Given the description of an element on the screen output the (x, y) to click on. 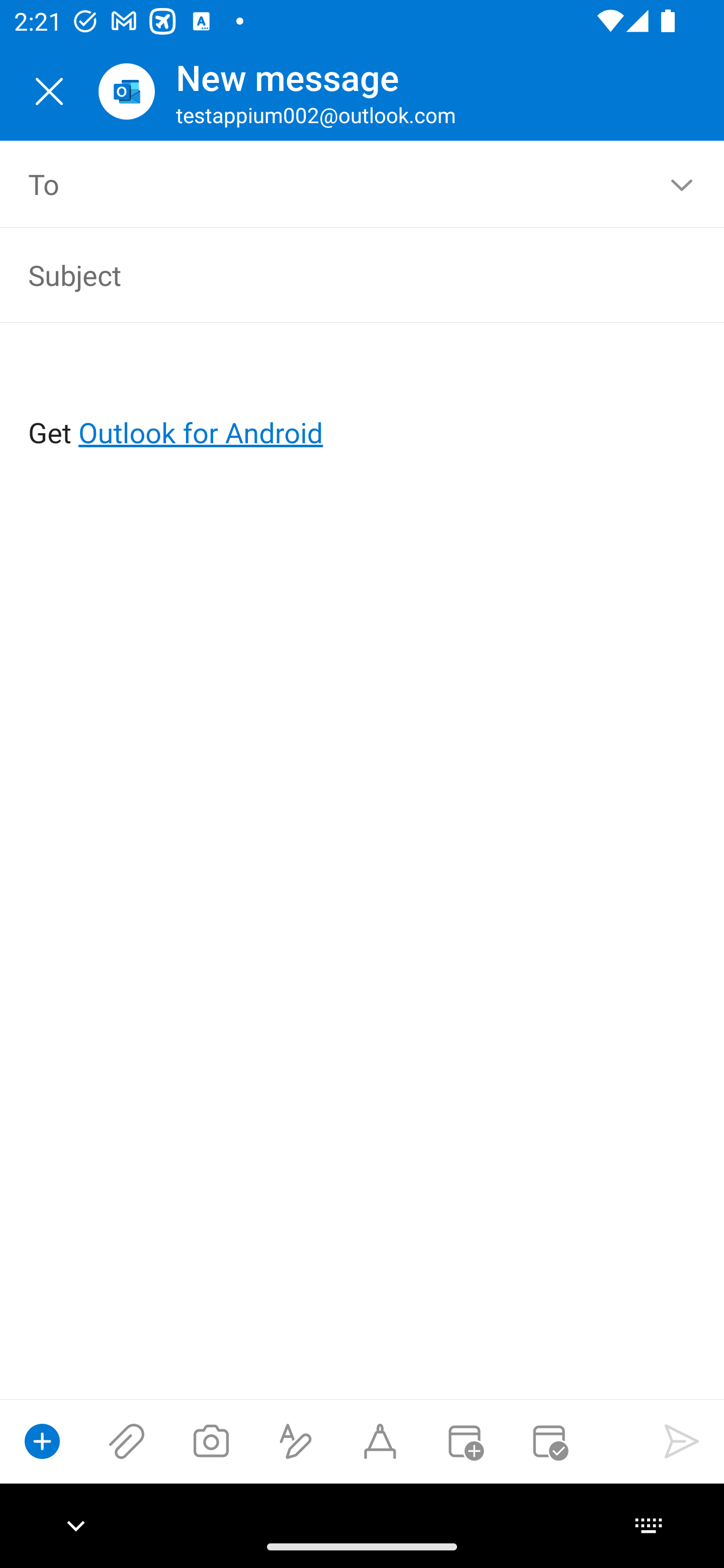
Close (49, 91)
Subject (333, 274)
Show compose options (42, 1440)
Attach files (126, 1440)
Take a photo (210, 1440)
Show formatting options (295, 1440)
Start Ink compose (380, 1440)
Convert to event (464, 1440)
Send availability (548, 1440)
Send (681, 1440)
